Given the description of an element on the screen output the (x, y) to click on. 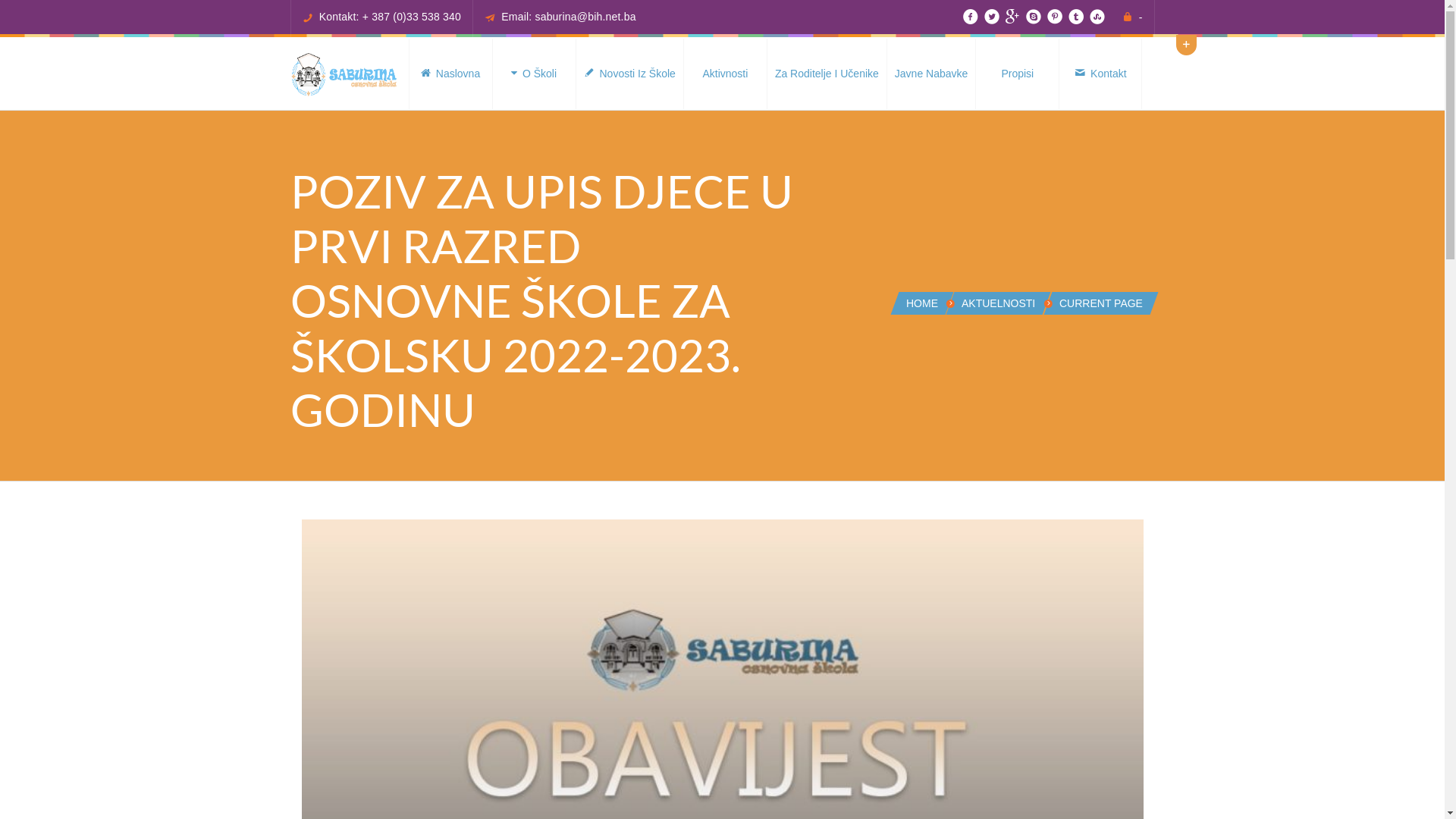
HOME Element type: text (922, 302)
Email: saburina@bih.net.ba Element type: text (568, 16)
- Element type: text (1140, 17)
Kontakt Element type: text (1100, 73)
AKTUELNOSTI Element type: text (998, 302)
Naslovna Element type: text (449, 73)
Javne Nabavke Element type: text (930, 73)
Aktivnosti Element type: text (724, 73)
Propisi Element type: text (1016, 73)
